Given the description of an element on the screen output the (x, y) to click on. 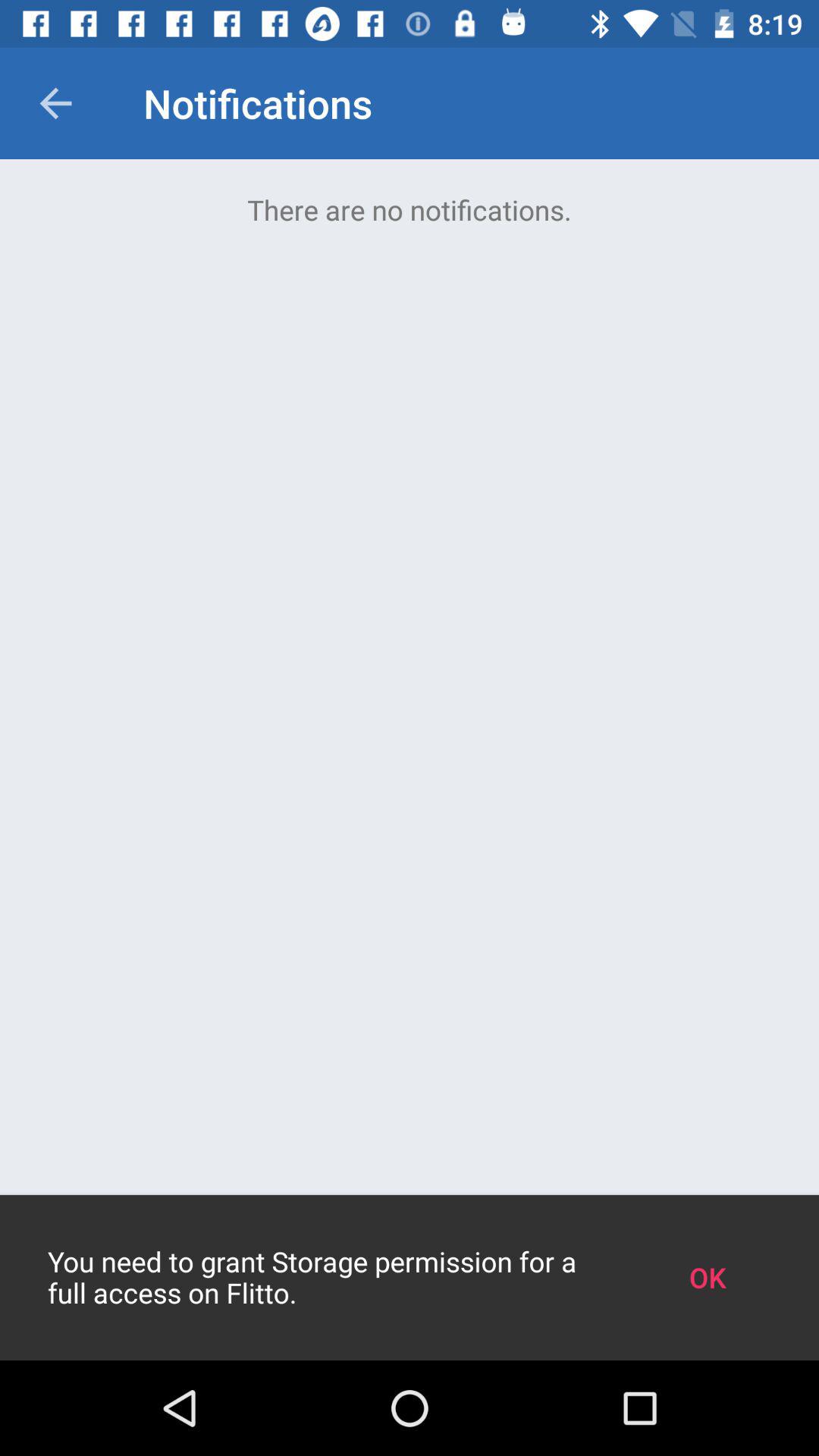
click on ok (707, 1277)
